Given the description of an element on the screen output the (x, y) to click on. 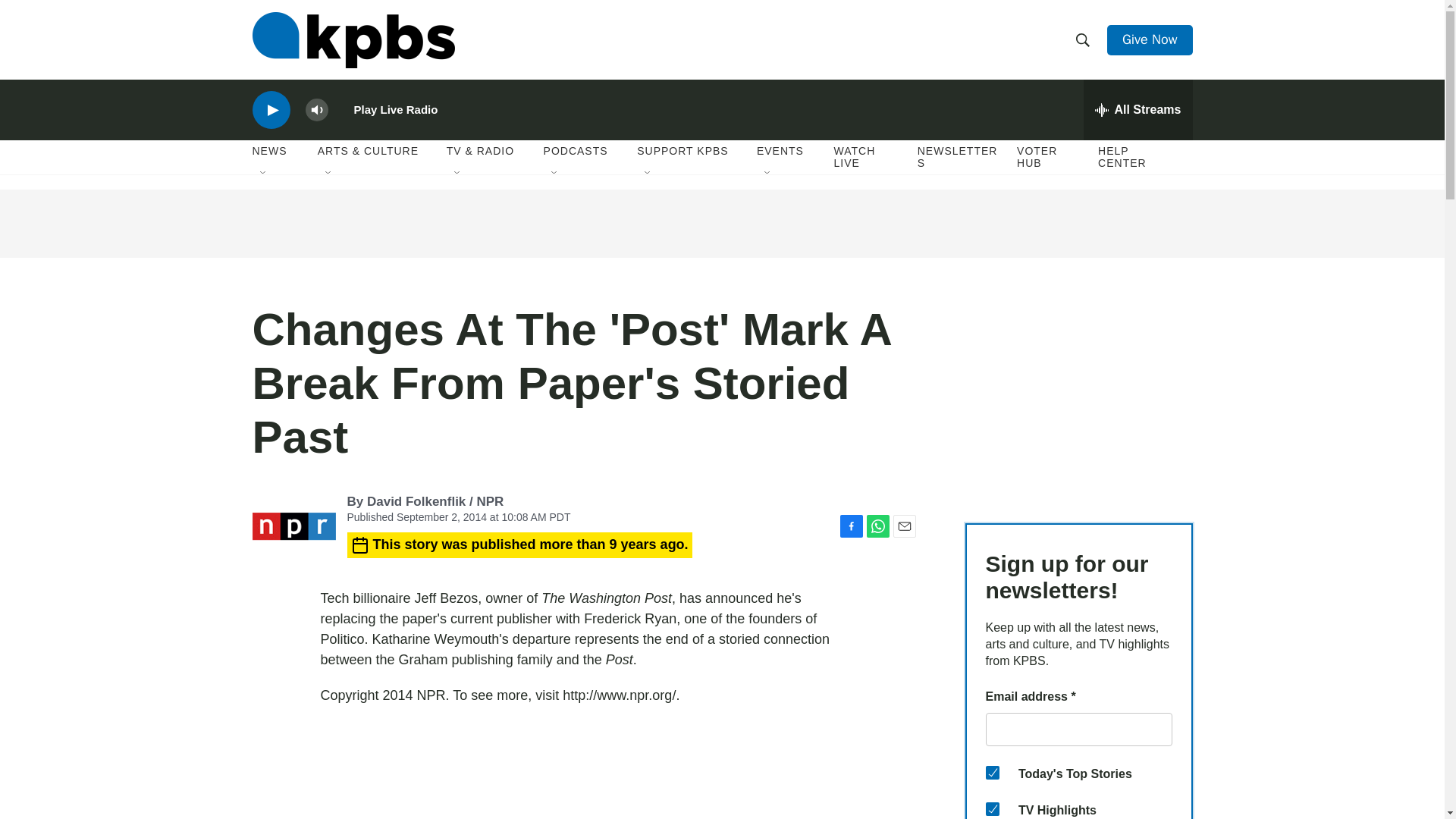
5 (991, 808)
4 (991, 772)
